Given the description of an element on the screen output the (x, y) to click on. 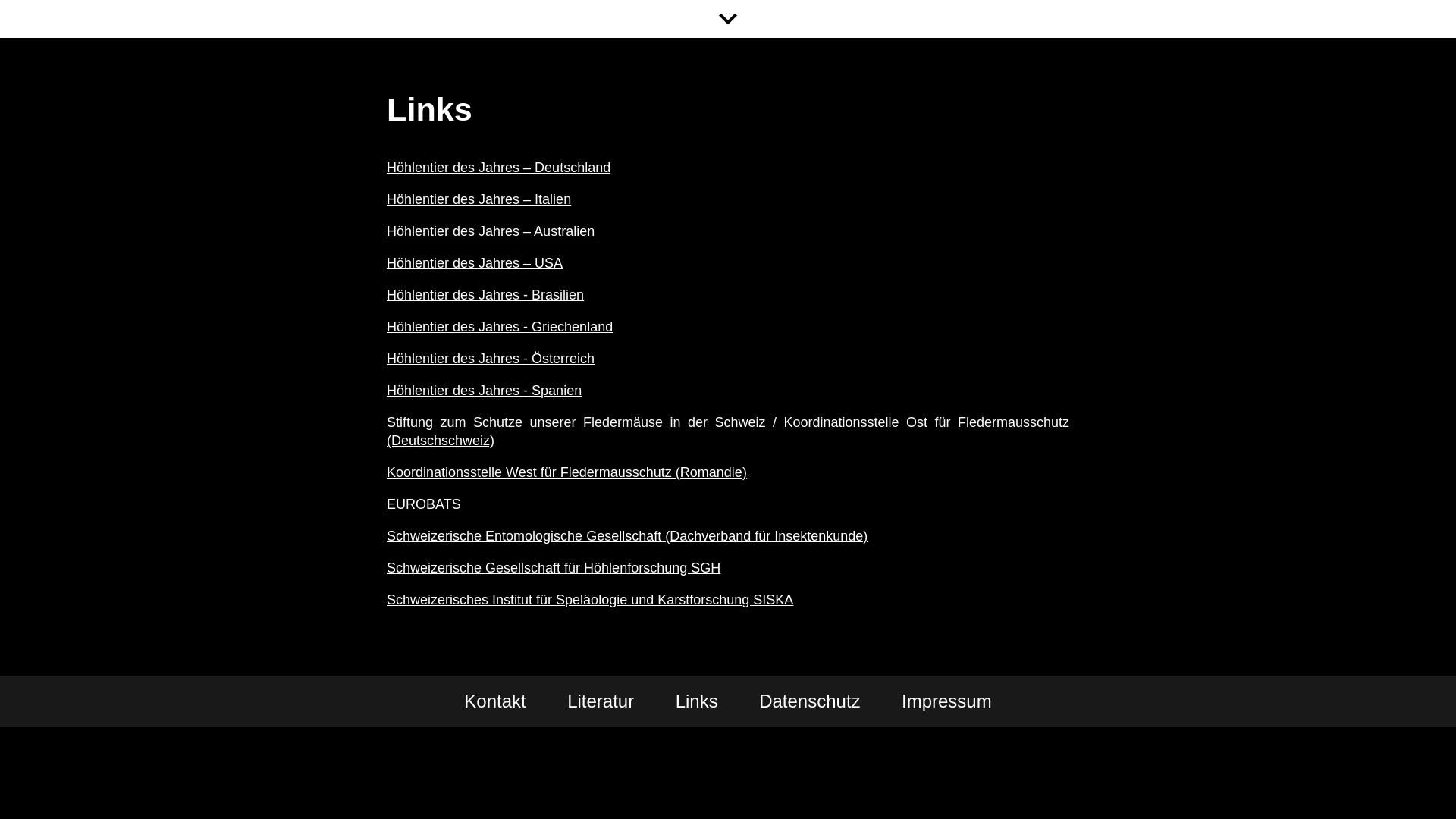
Datenschutz Element type: text (809, 701)
Impressum Element type: text (946, 701)
EUROBATS Element type: text (423, 503)
Kontakt Element type: text (494, 701)
Literatur Element type: text (600, 701)
Links Element type: text (696, 701)
